Given the description of an element on the screen output the (x, y) to click on. 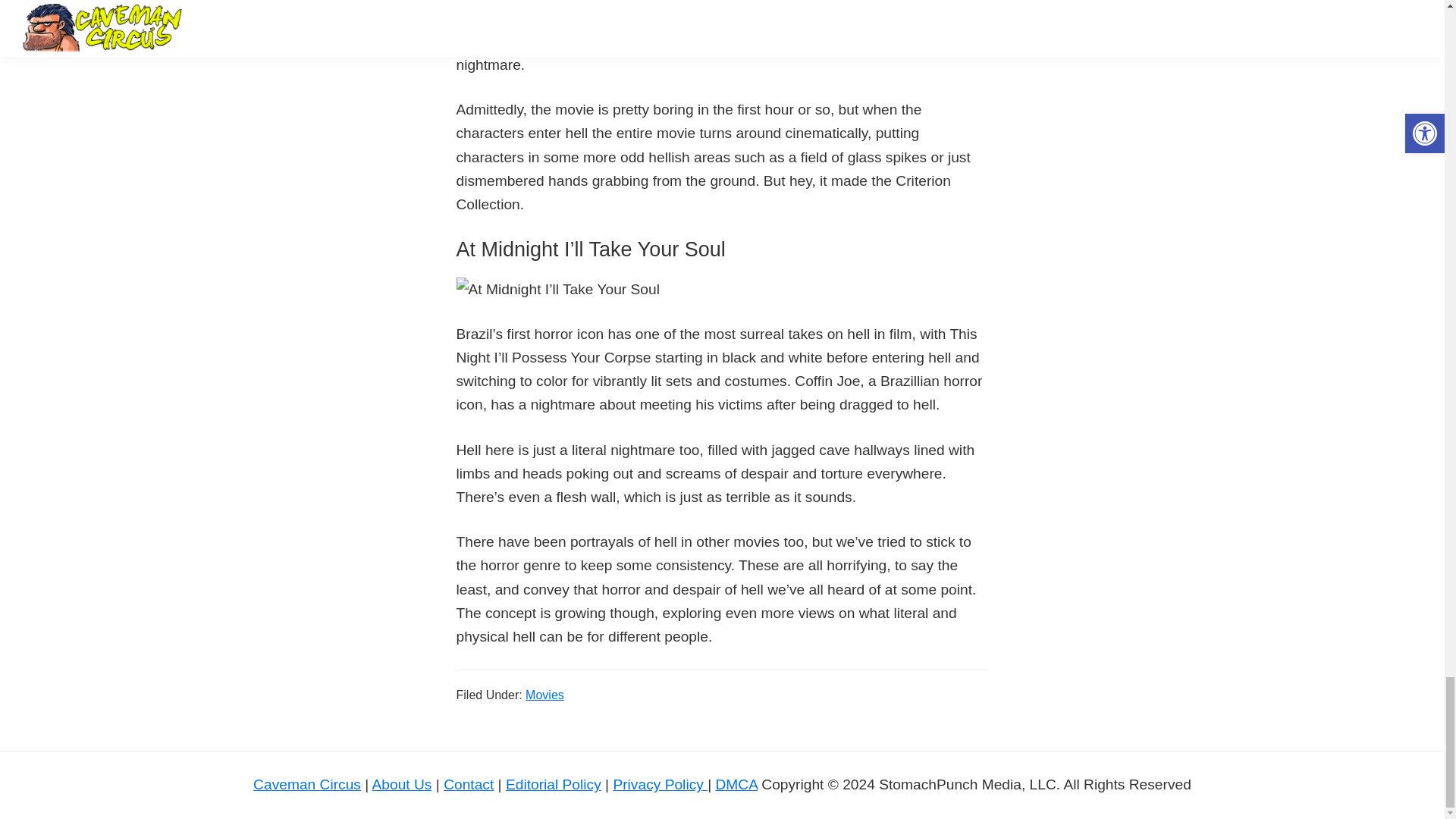
Caveman Circus (307, 784)
Contact (468, 784)
Privacy Policy (659, 784)
Editorial Policy (553, 784)
Movies (544, 694)
About Us (402, 784)
DMCA (736, 784)
